Given the description of an element on the screen output the (x, y) to click on. 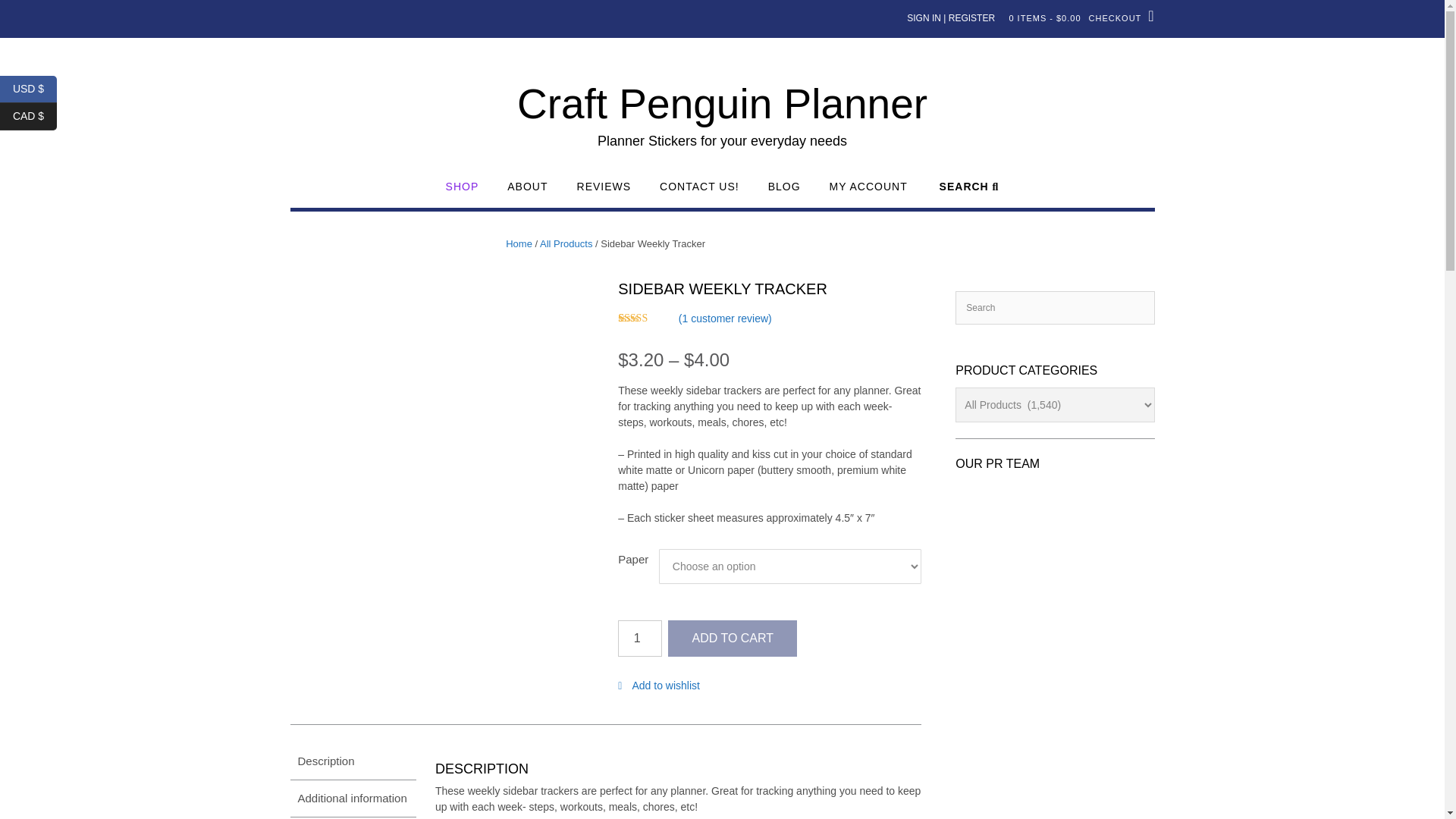
Craft Penguin Planner (721, 104)
SHOP (462, 193)
1 (639, 637)
